Given the description of an element on the screen output the (x, y) to click on. 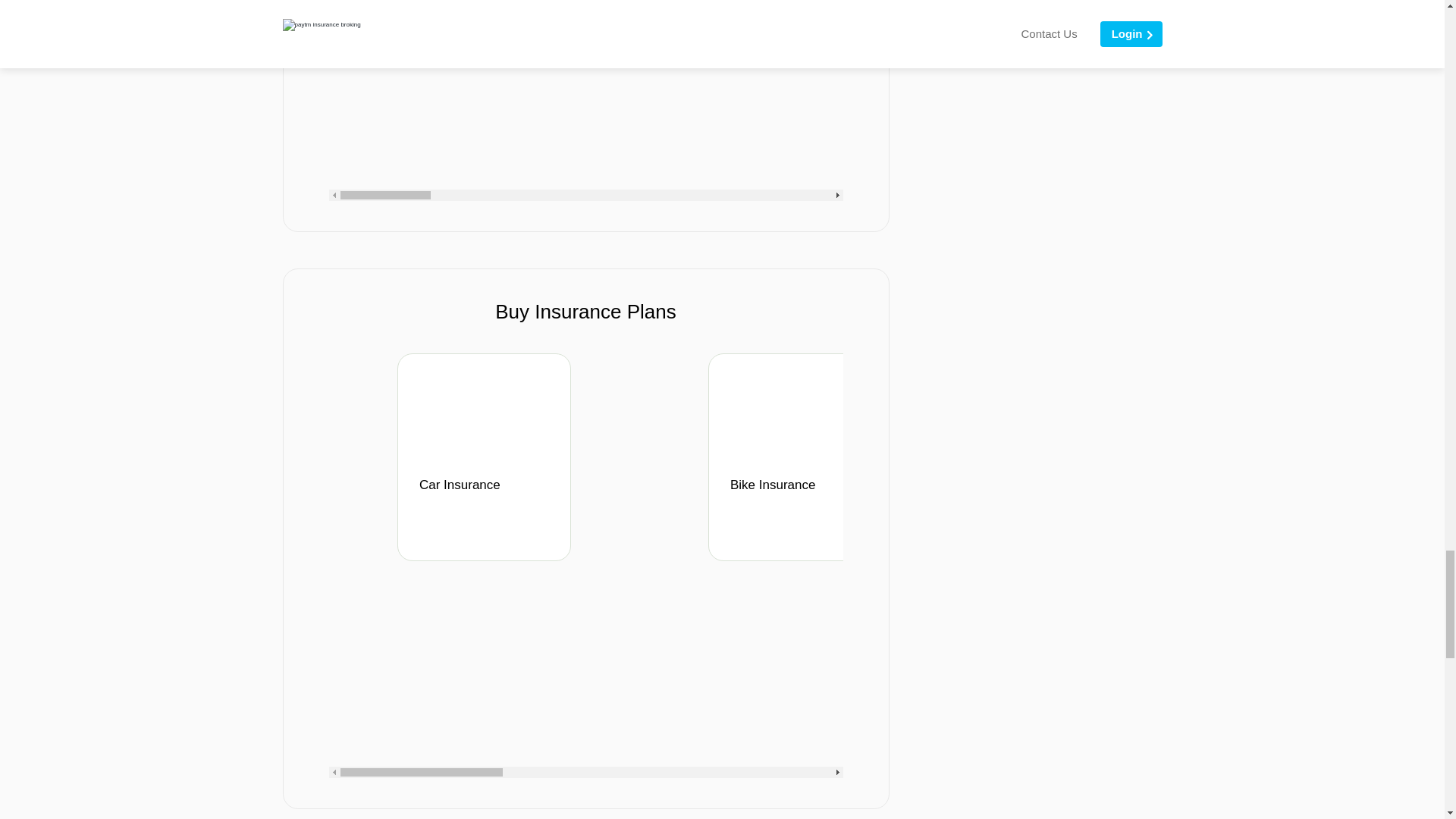
Car Insurance (488, 494)
Health Insurance (1110, 494)
Bike Insurance (799, 494)
